Given the description of an element on the screen output the (x, y) to click on. 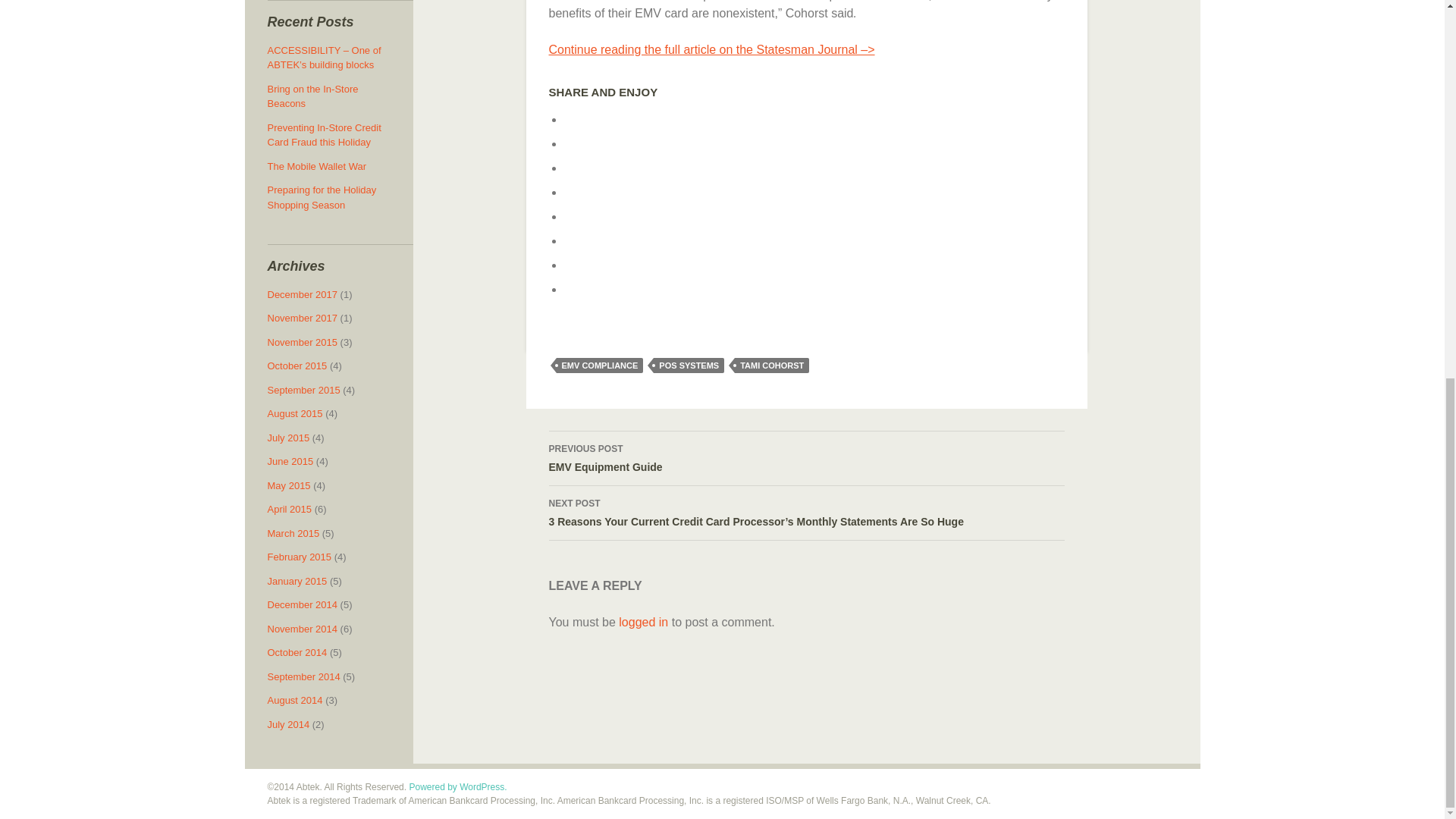
POS SYSTEMS (806, 458)
Email this (688, 365)
Share this on LinkedIn (576, 264)
Subscribe to RSS (576, 192)
TAMI COHORST (576, 288)
EMV COMPLIANCE (772, 365)
Share this on Facebook (599, 365)
Add to favorites (576, 119)
logged in (576, 240)
